Given the description of an element on the screen output the (x, y) to click on. 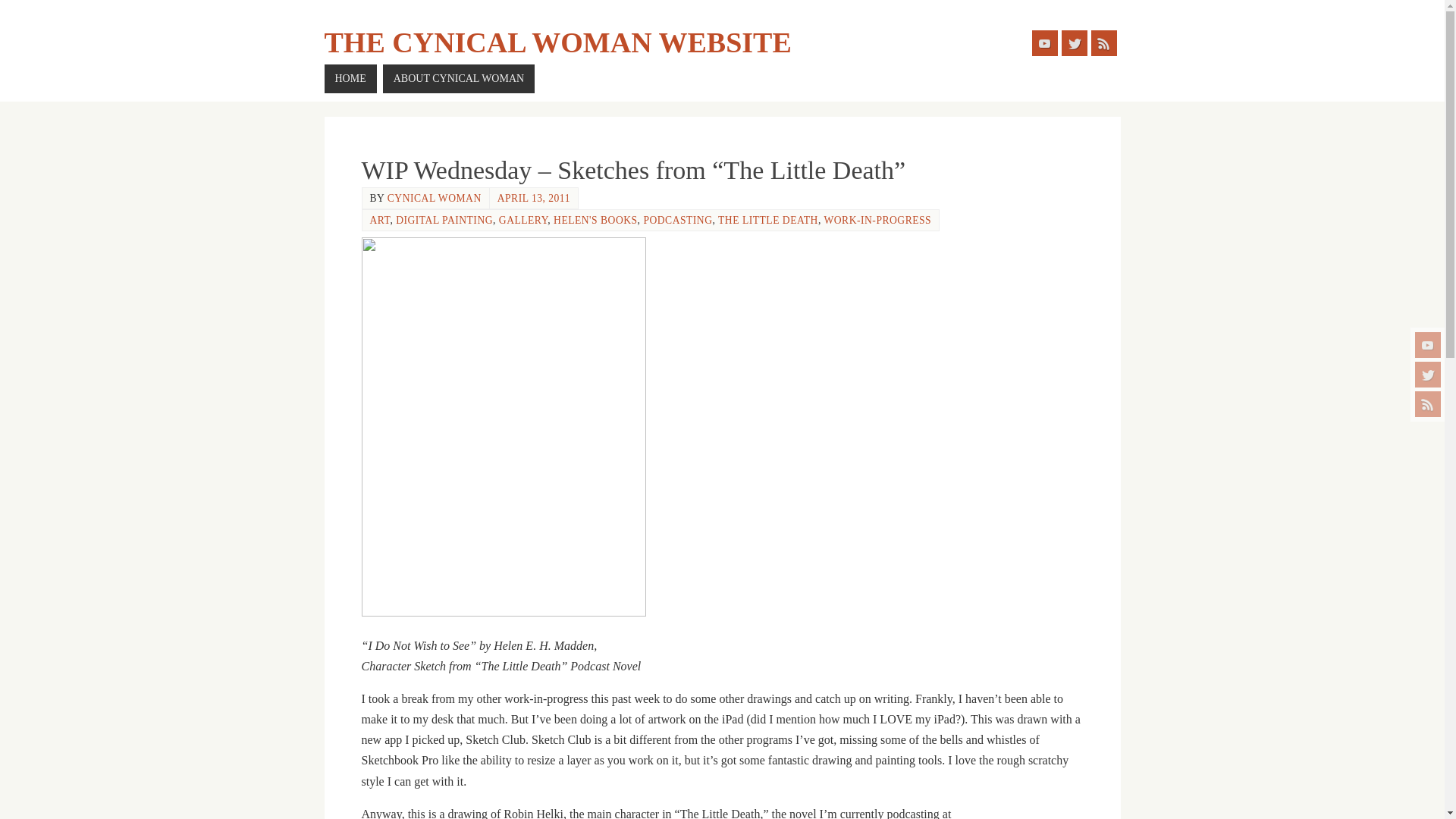
HOME (350, 78)
WORK-IN-PROGRESS (877, 220)
DIGITAL PAINTING (444, 220)
YouTube (1428, 344)
ABOUT CYNICAL WOMAN (458, 78)
Twitter (1428, 374)
The Cynical Woman Website (558, 42)
Twitter (1074, 43)
RSS (1103, 43)
GALLERY (523, 220)
